Given the description of an element on the screen output the (x, y) to click on. 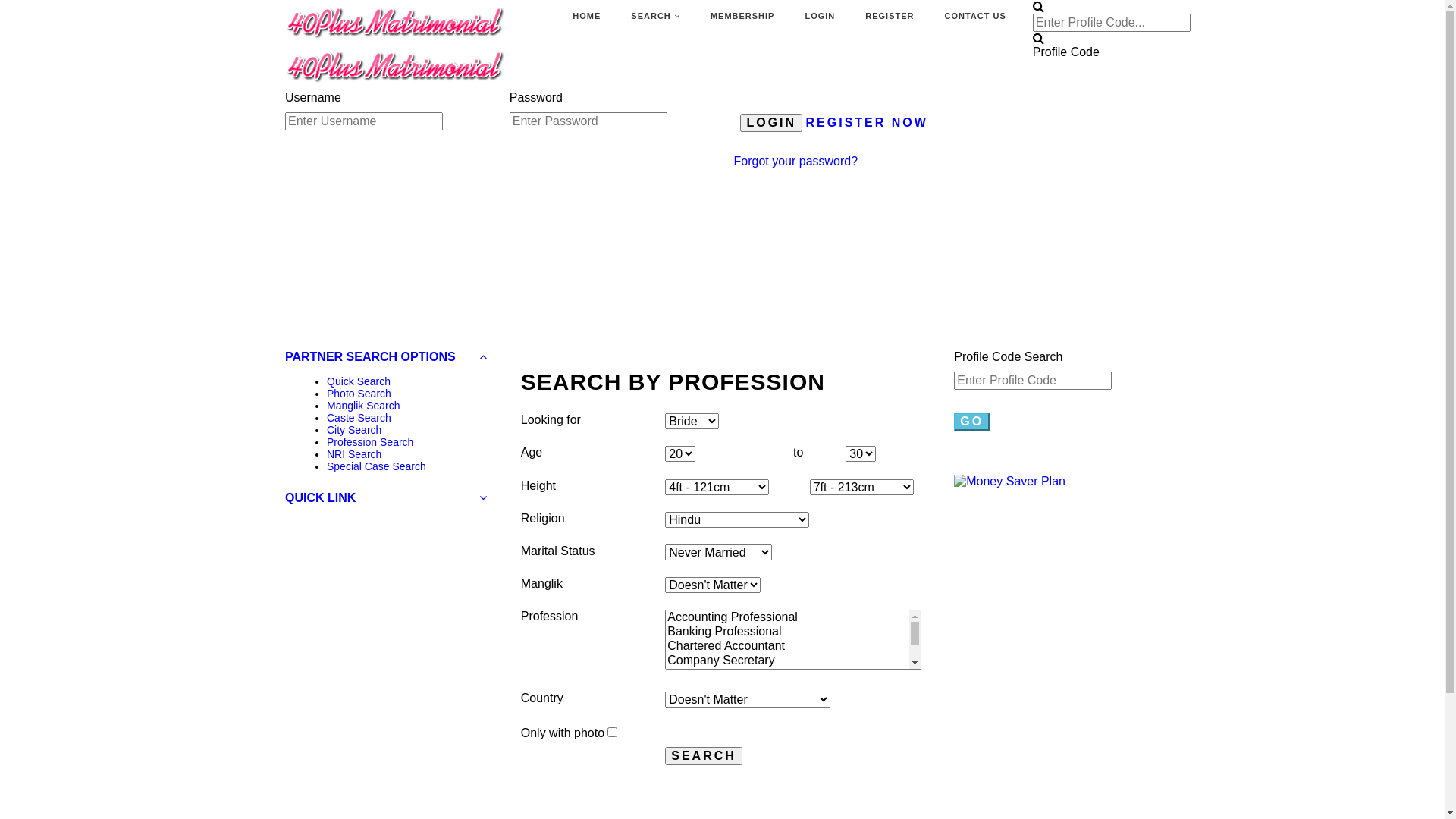
CONTACT US Element type: text (975, 16)
Quick Search Element type: text (358, 381)
REGISTER NOW Element type: text (867, 122)
REGISTER Element type: text (889, 16)
MEMBERSHIP Element type: text (742, 16)
Special Case Search Element type: text (376, 466)
LOGIN Element type: text (819, 16)
Go Element type: text (971, 421)
SEARCH Element type: text (655, 16)
NRI Search Element type: text (353, 454)
Caste Search Element type: text (358, 417)
Forgot your password? Element type: text (796, 160)
Manglik Search Element type: text (363, 405)
Profession Search Element type: text (369, 442)
Search Element type: text (703, 755)
QUICK LINK Element type: text (385, 498)
City Search Element type: text (353, 429)
Photo Search Element type: text (358, 393)
HOME Element type: text (586, 16)
PARTNER SEARCH OPTIONS Element type: text (385, 357)
LOGIN Element type: text (771, 122)
